Given the description of an element on the screen output the (x, y) to click on. 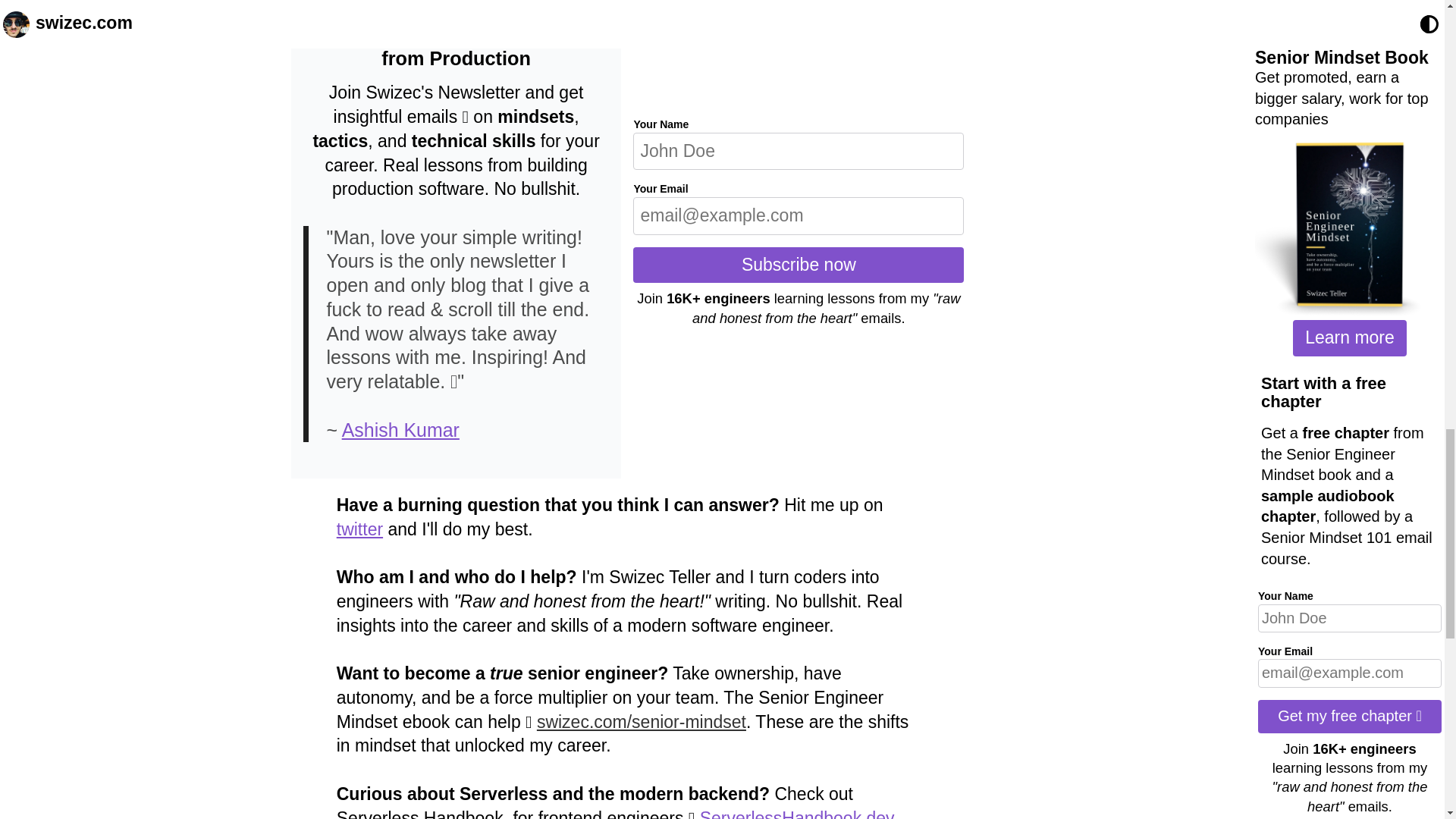
Ashish Kumar (401, 429)
Software Engineering Lessons from Production (455, 47)
twitter (359, 528)
ServerlessHandbook.dev (797, 813)
Subscribe now (798, 265)
